Given the description of an element on the screen output the (x, y) to click on. 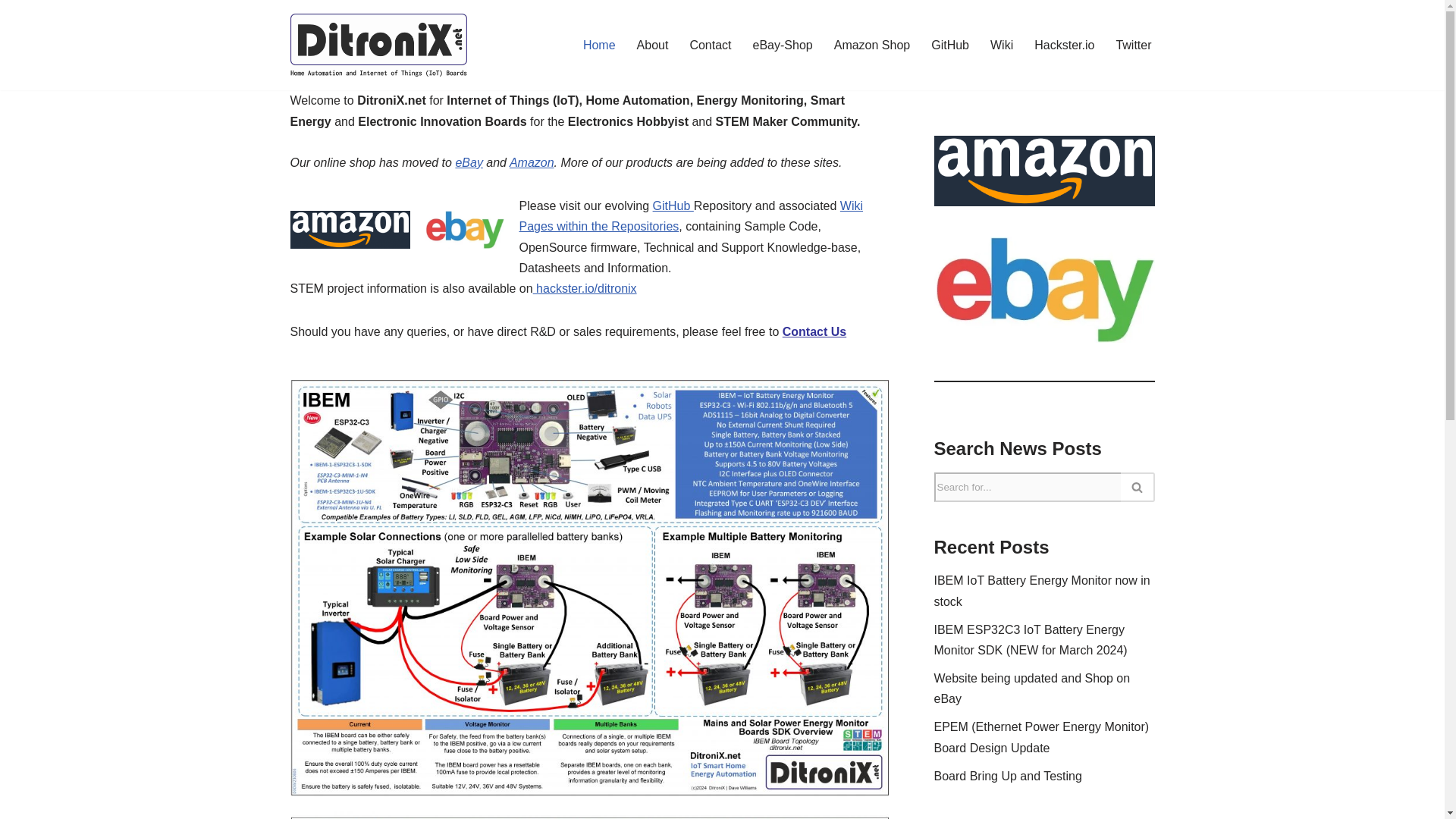
Wiki Pages within the Repositories (690, 215)
Home (599, 45)
Amazon (531, 162)
eBay-Shop (782, 45)
eBay (467, 162)
Twitter (1133, 45)
Skip to content (11, 31)
GitHub (673, 205)
Hackster.io (1063, 45)
Amazon Shop (872, 45)
Contact (709, 45)
About (652, 45)
Wiki (1001, 45)
Contact Us (814, 331)
GitHub (950, 45)
